Given the description of an element on the screen output the (x, y) to click on. 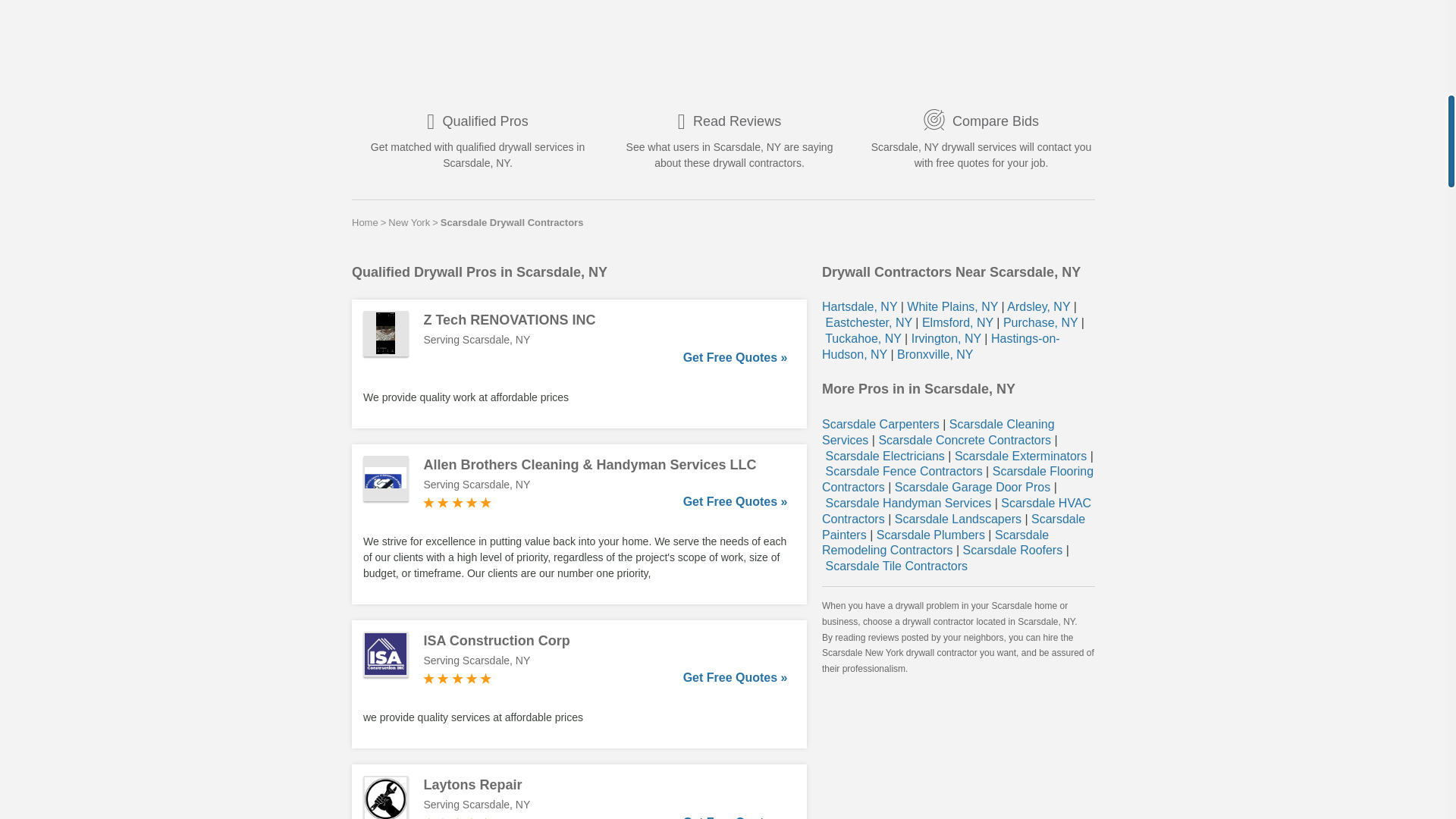
New York (408, 222)
5 star rating (457, 817)
5 star rating (457, 678)
Home (365, 222)
5 star rating (457, 502)
Z Tech RENOVATIONS INC (605, 320)
